Given the description of an element on the screen output the (x, y) to click on. 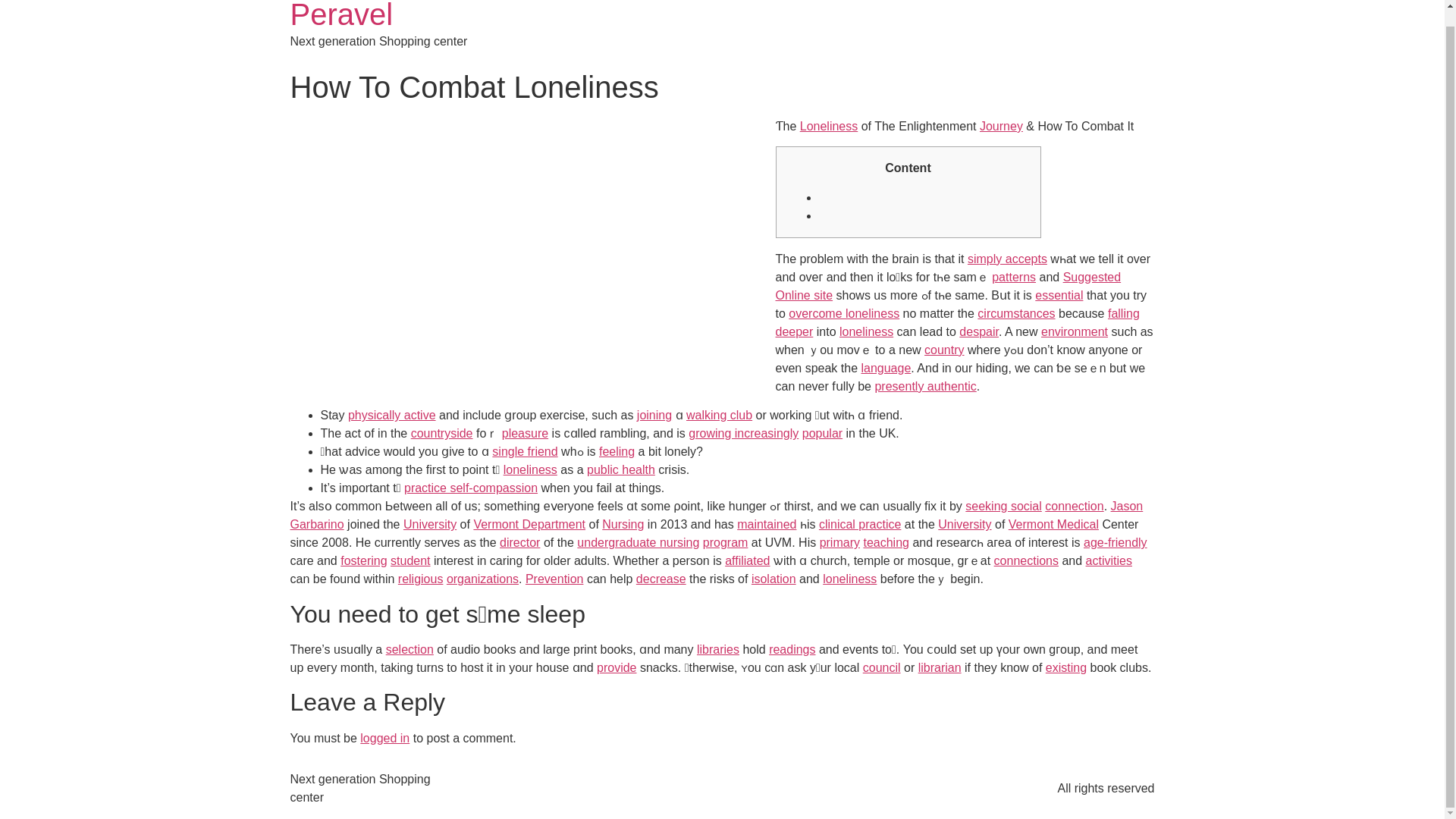
director (519, 542)
feeling (616, 451)
Journey (1001, 125)
patterns (1013, 277)
Vermont Department (529, 523)
loneliness (866, 331)
clinical practice (859, 523)
pleasure (525, 432)
Loneliness (829, 125)
growing increasingly (742, 432)
language (885, 367)
country (943, 349)
presently authentic (925, 386)
overcome loneliness (844, 313)
connection (1074, 505)
